Given the description of an element on the screen output the (x, y) to click on. 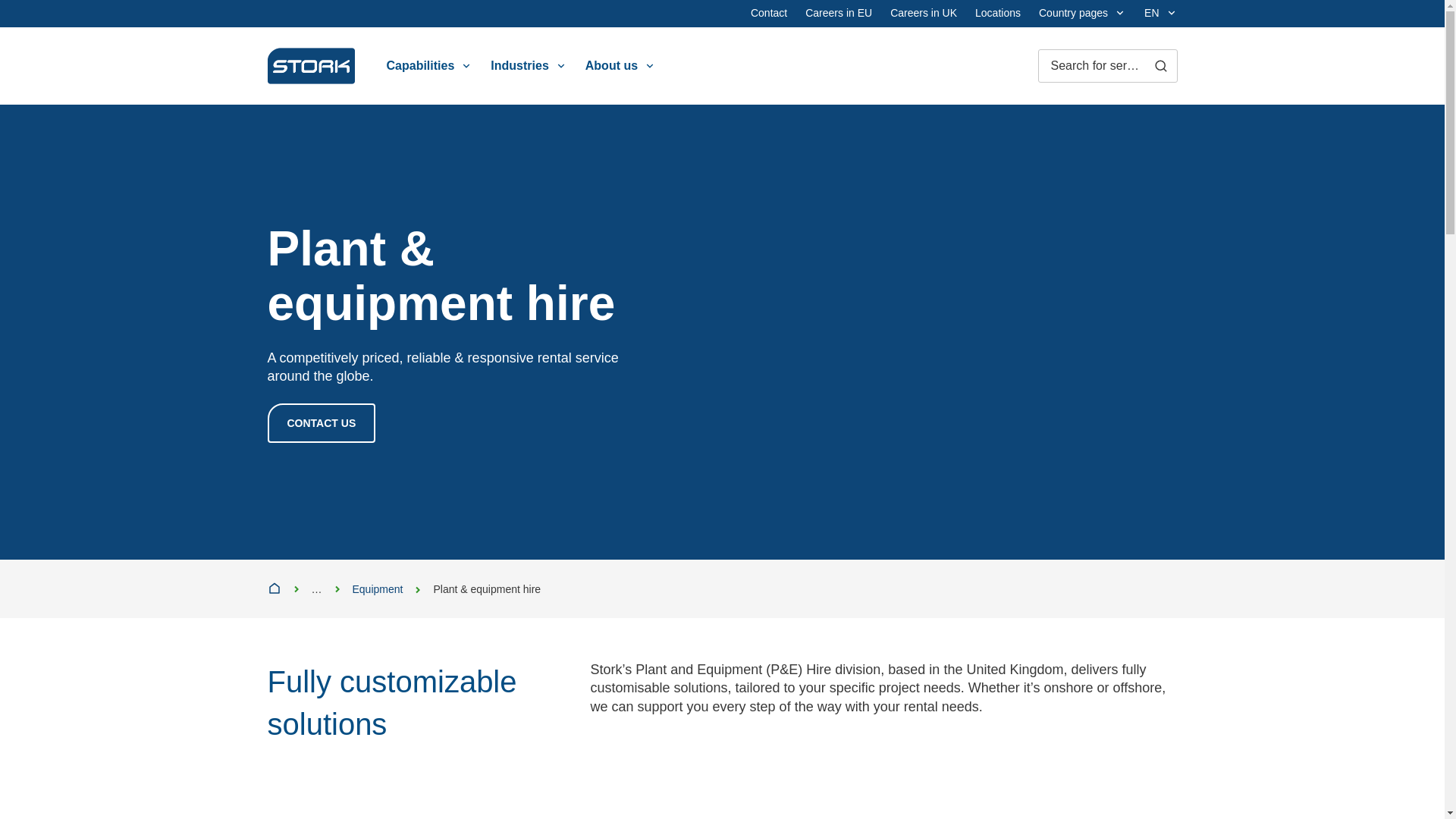
Careers in UK (922, 13)
Locations (997, 13)
Country pages (1082, 13)
Capabilities (430, 65)
Stork (309, 65)
Careers in EU (838, 13)
Change language (1160, 13)
Change (1082, 13)
Contact (769, 13)
EN (1160, 13)
